Given the description of an element on the screen output the (x, y) to click on. 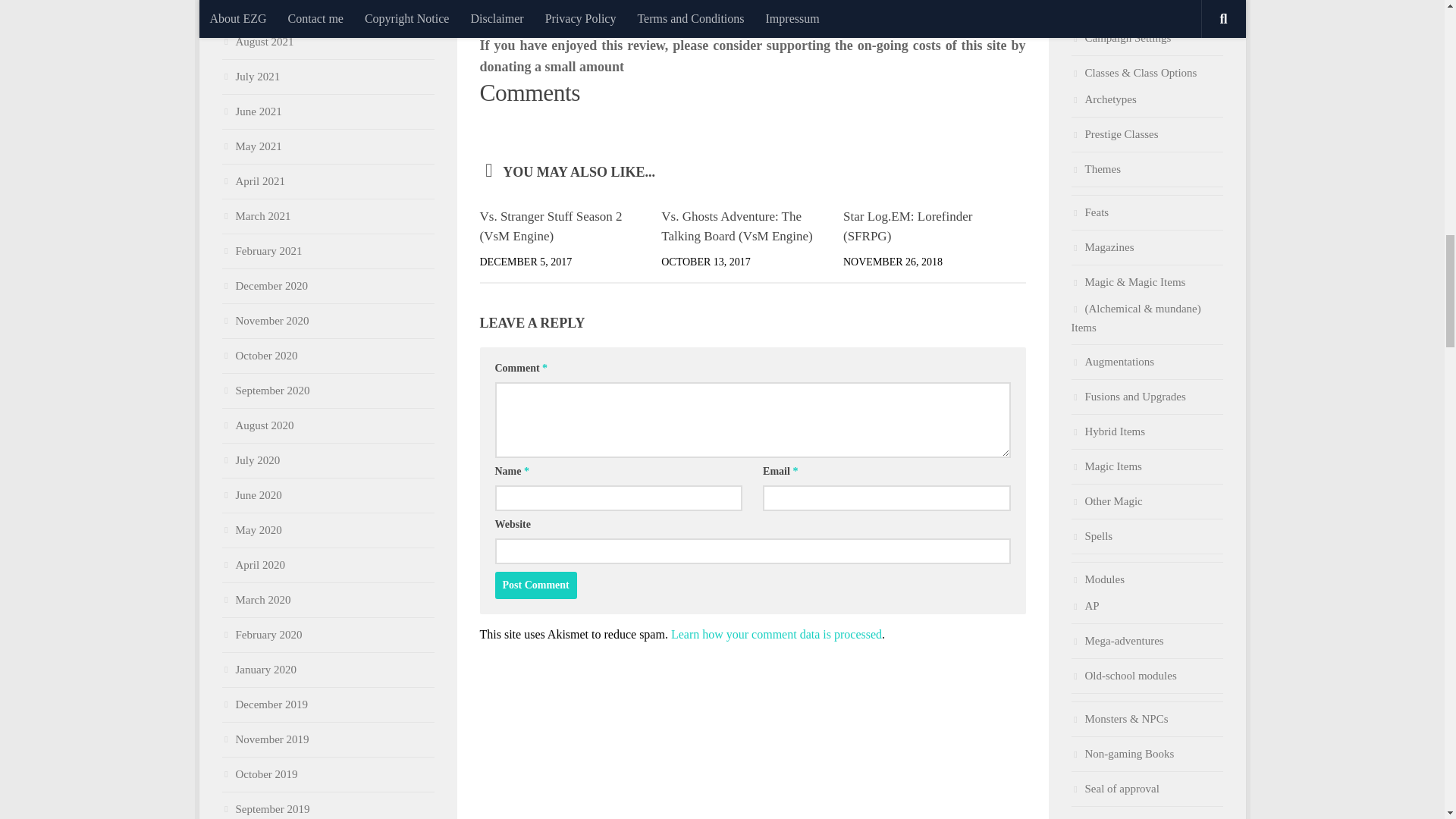
Post Comment (535, 584)
